Given the description of an element on the screen output the (x, y) to click on. 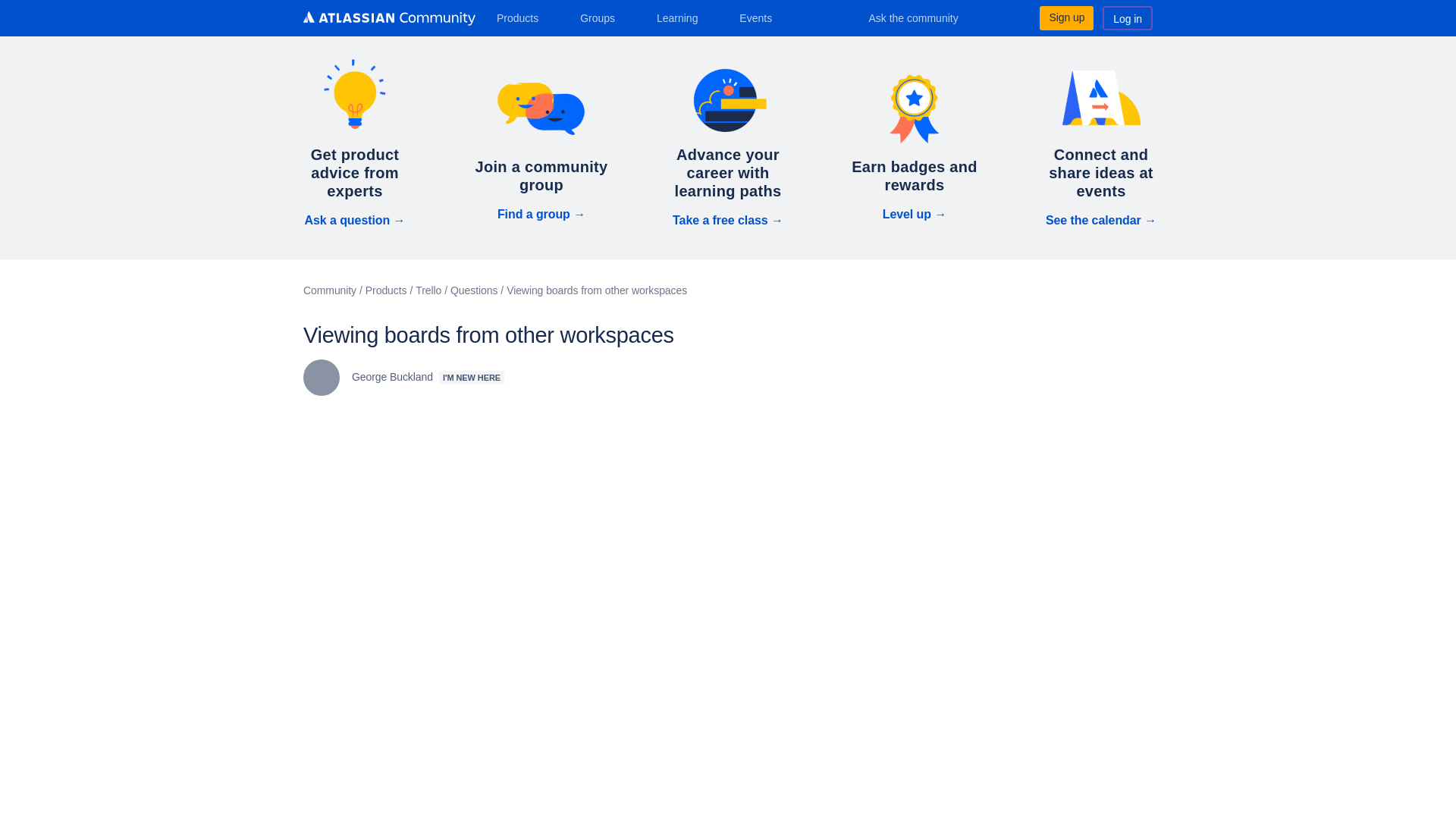
Log in (1127, 17)
Learning (682, 17)
Groups (602, 17)
George Buckland (320, 377)
Products (523, 17)
Ask the community  (923, 17)
Atlassian Community logo (389, 18)
Sign up (1066, 17)
Events (761, 17)
Atlassian Community logo (389, 19)
